Given the description of an element on the screen output the (x, y) to click on. 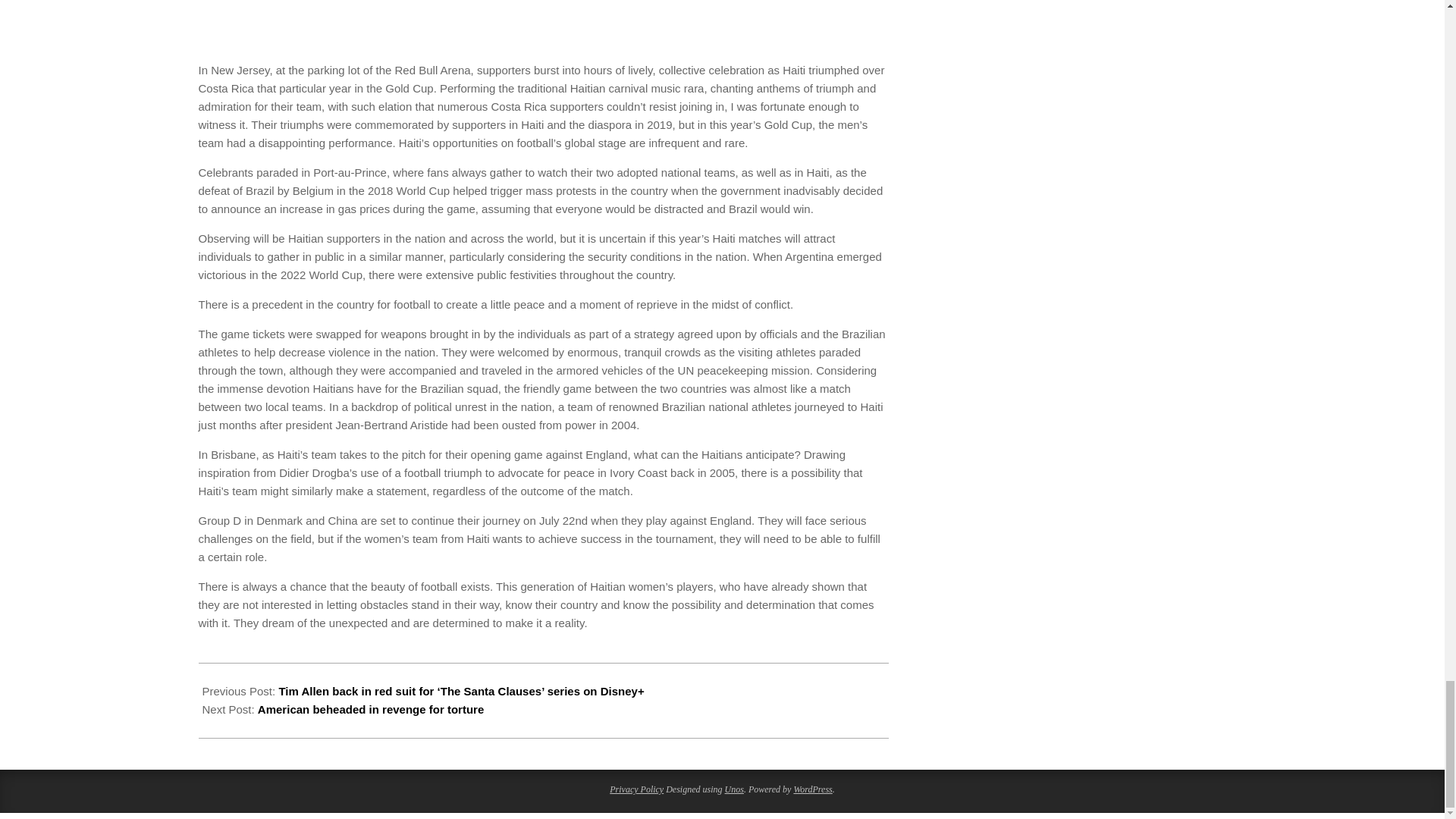
American beheaded in revenge for torture (370, 708)
Unos WordPress Theme (734, 788)
